Given the description of an element on the screen output the (x, y) to click on. 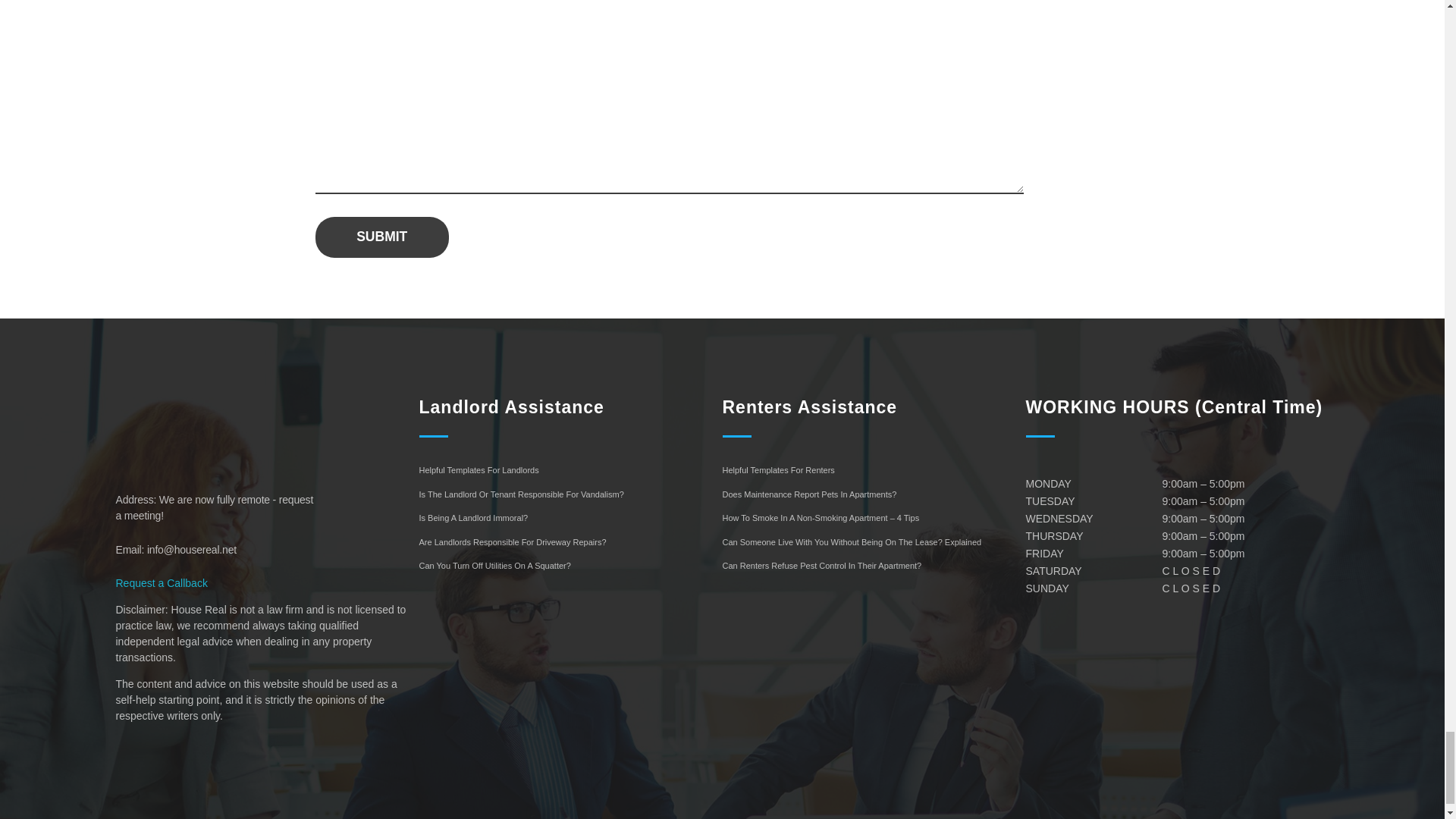
Submit (381, 237)
Submit (381, 237)
HouseReal (173, 470)
HouseReal (224, 425)
